Given the description of an element on the screen output the (x, y) to click on. 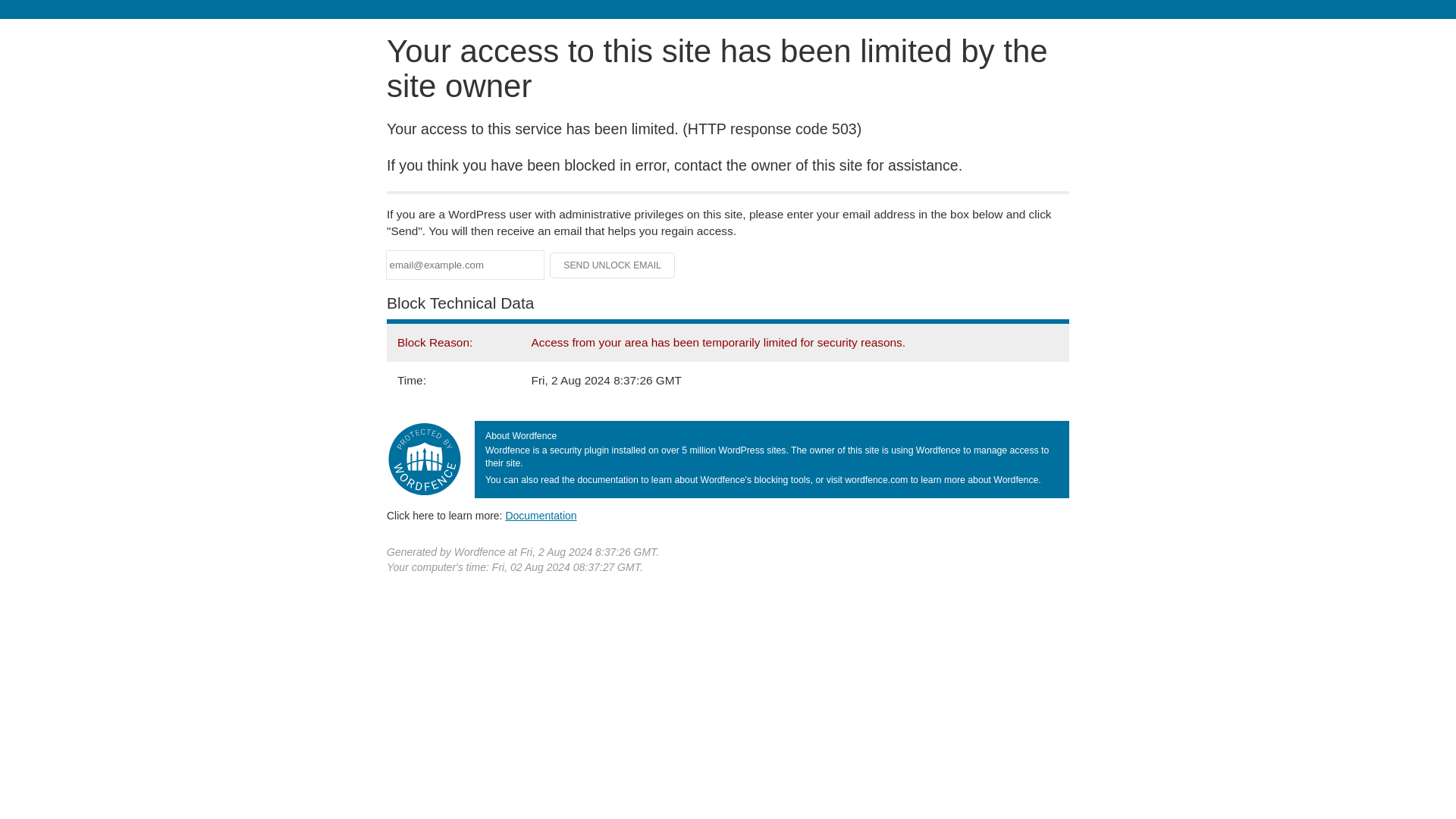
Send Unlock Email (612, 265)
Documentation (540, 515)
Send Unlock Email (612, 265)
